Given the description of an element on the screen output the (x, y) to click on. 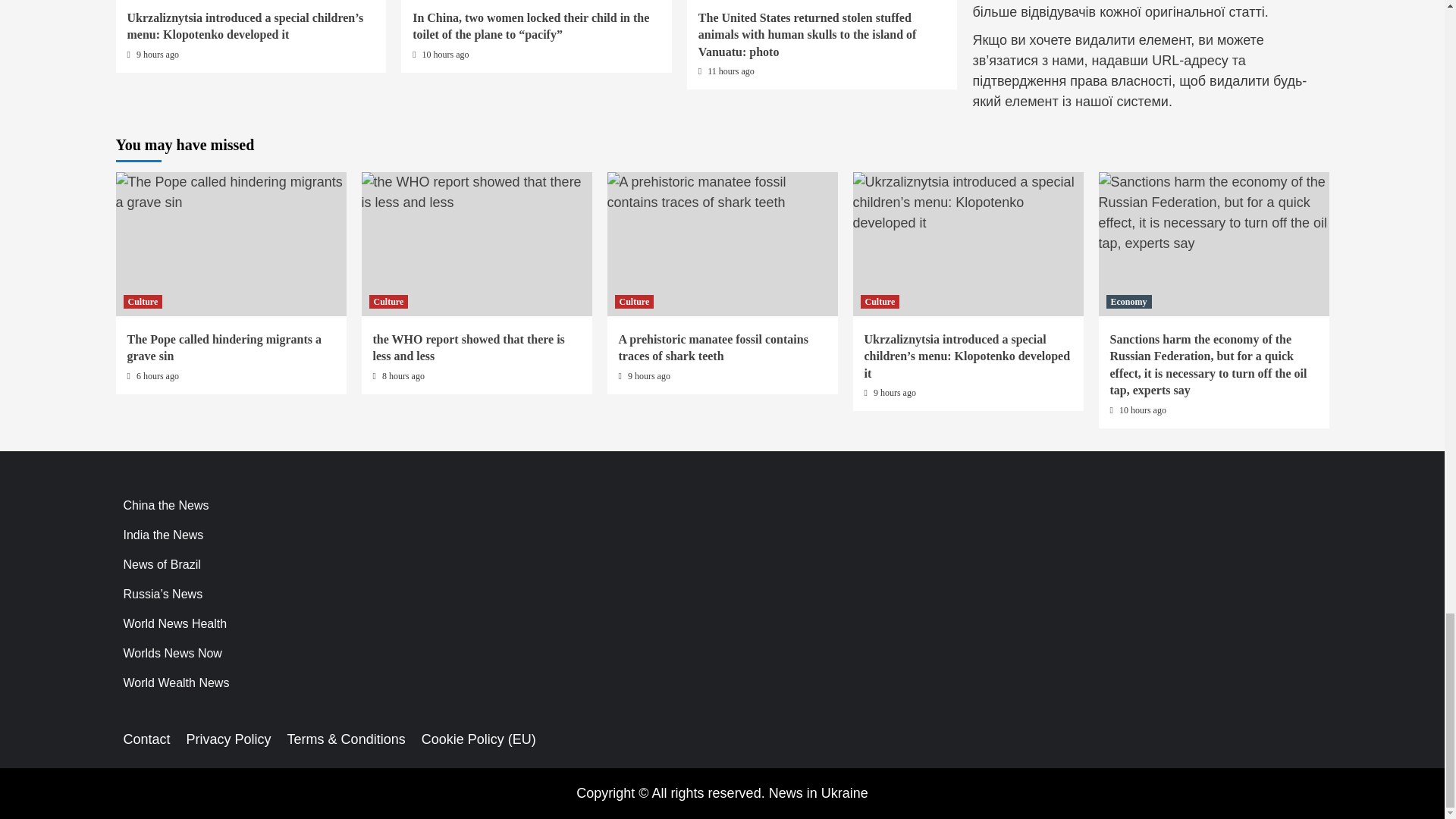
The Pope called hindering migrants a grave sin (230, 191)
A prehistoric manatee fossil contains traces of shark teeth (722, 191)
the WHO report showed that there is less and less (476, 191)
